Given the description of an element on the screen output the (x, y) to click on. 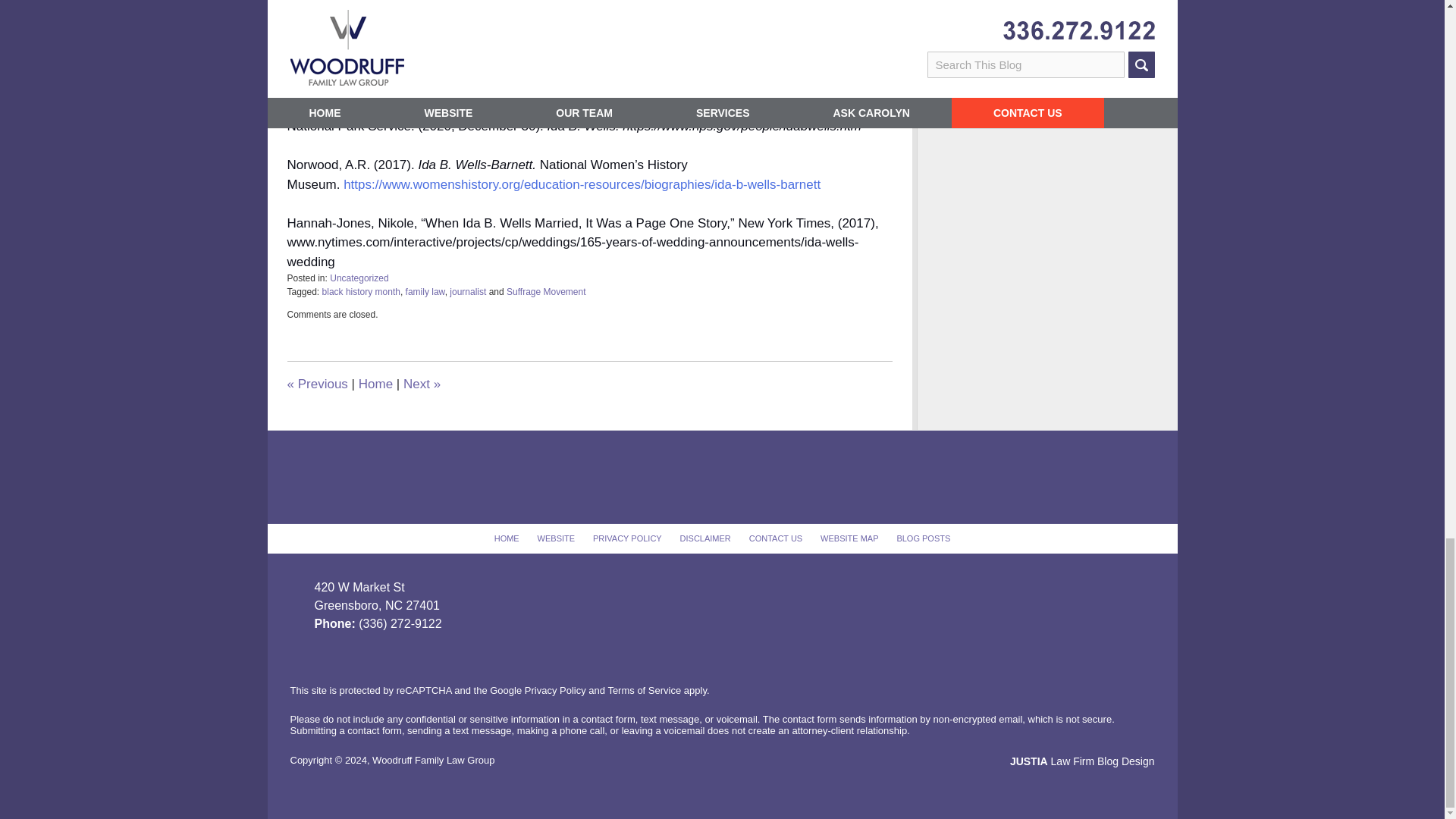
View all posts tagged with Suffrage Movement (546, 291)
View all posts tagged with journalist (467, 291)
Uncategorized (359, 277)
View all posts tagged with black history month (360, 291)
journalist (467, 291)
View all posts tagged with family law (425, 291)
Kim and Kanye: Custody Battle via Social Media (316, 383)
family law (425, 291)
black history month (360, 291)
Separation Agreements as Contracts (422, 383)
Home (375, 383)
View all posts in Uncategorized (359, 277)
Suffrage Movement (546, 291)
